Given the description of an element on the screen output the (x, y) to click on. 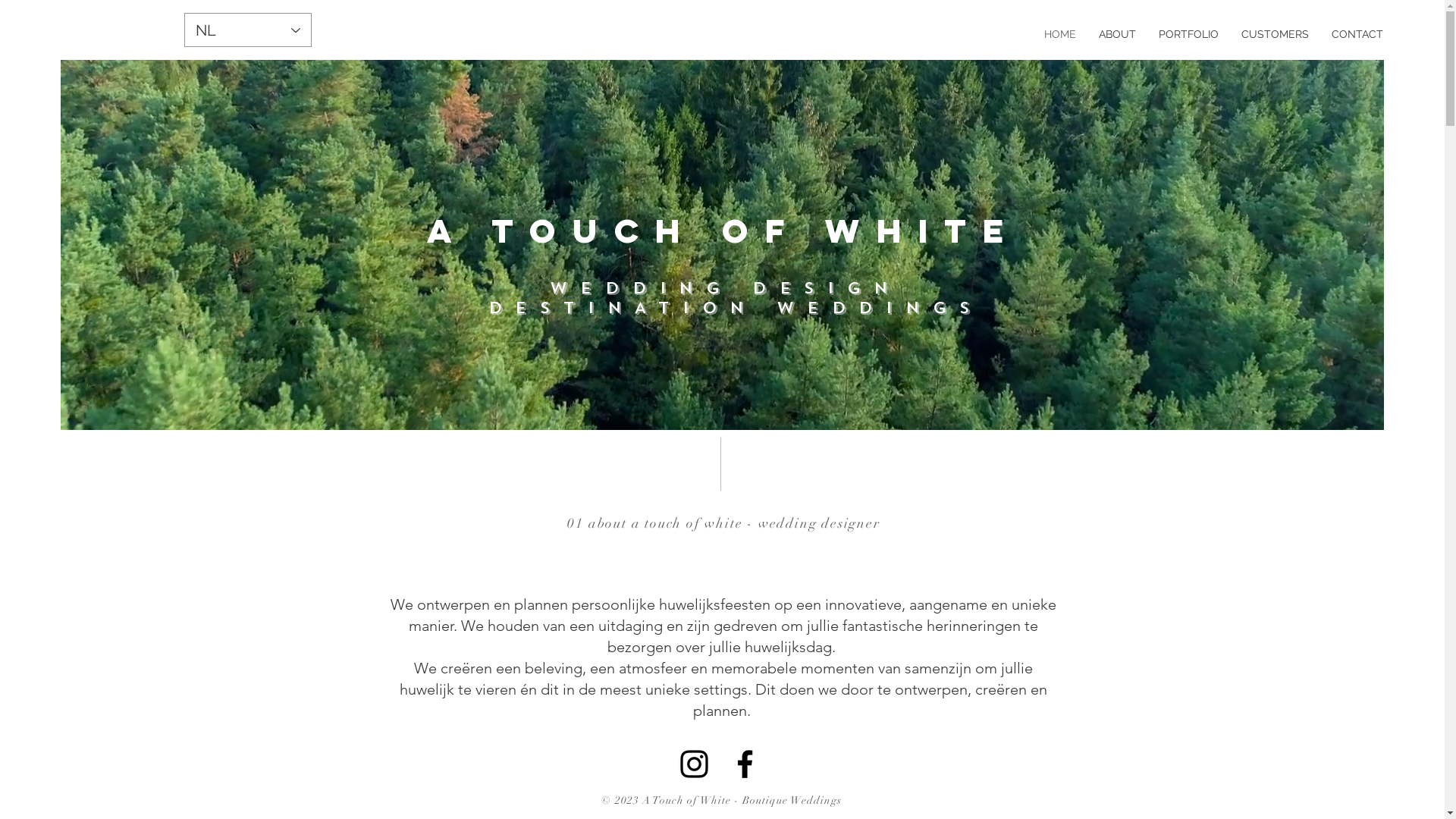
ABOUT Element type: text (1117, 34)
PORTFOLIO Element type: text (1188, 34)
CUSTOMERS Element type: text (1275, 34)
CONTACT Element type: text (1357, 34)
HOME Element type: text (1059, 34)
